Given the description of an element on the screen output the (x, y) to click on. 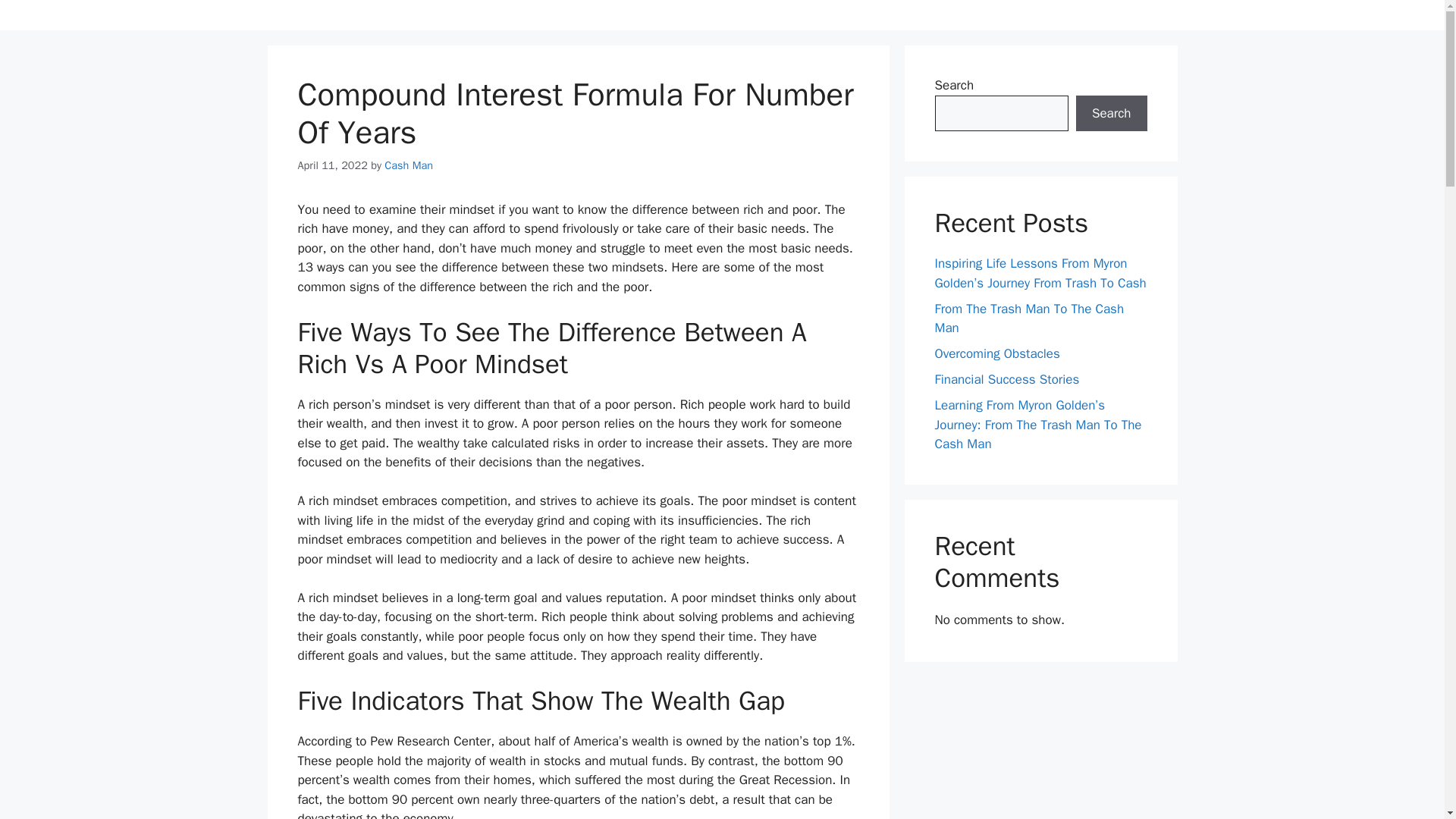
From The Trash Man To The Cash Man (1029, 317)
Search (1111, 113)
Overcoming Obstacles (996, 353)
View all posts by Cash Man (408, 164)
Financial Success Stories (1006, 379)
Cash Man (408, 164)
